Given the description of an element on the screen output the (x, y) to click on. 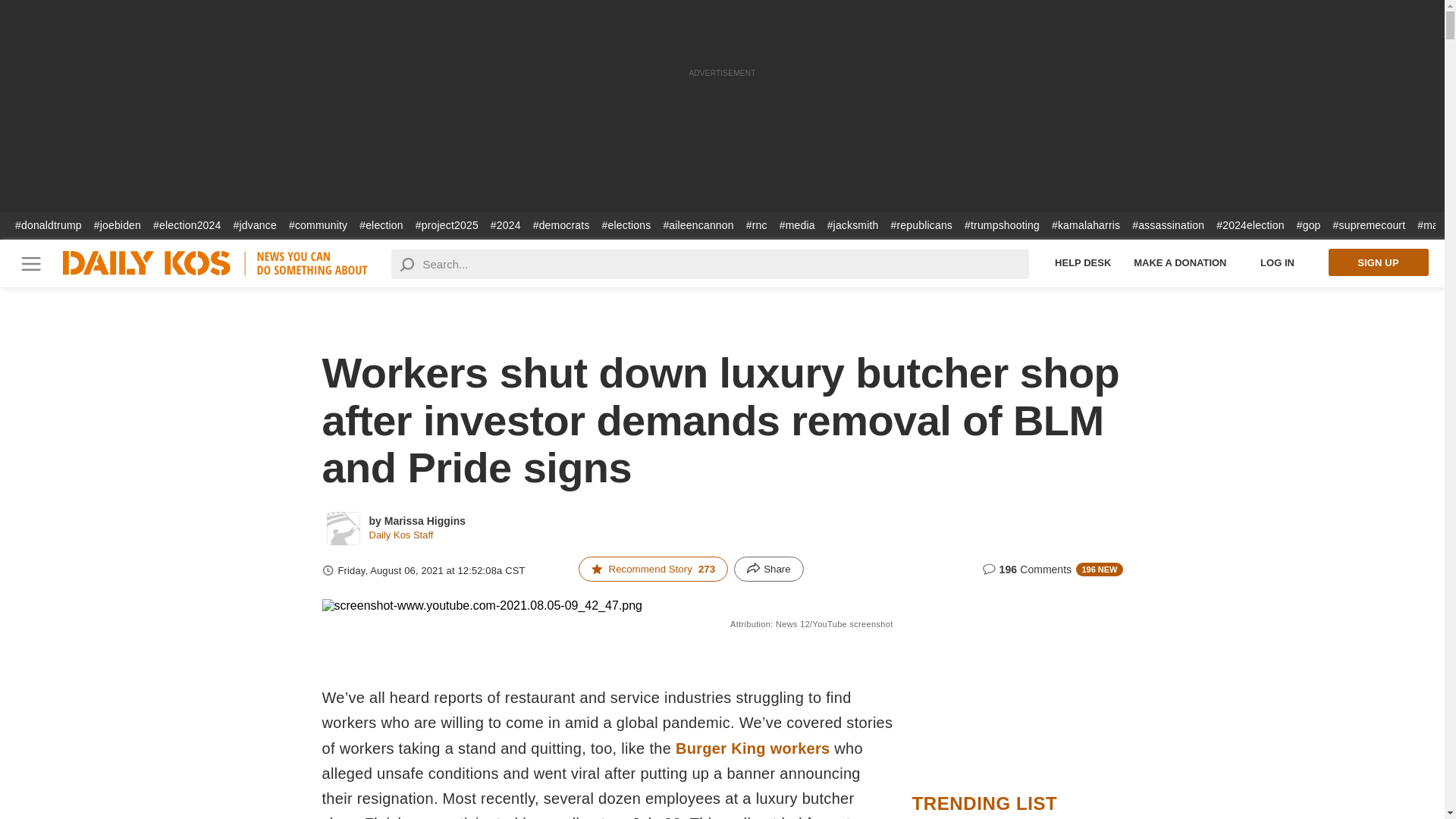
Make a Donation (1179, 262)
Help Desk (1082, 262)
MAKE A DONATION (1179, 262)
